Given the description of an element on the screen output the (x, y) to click on. 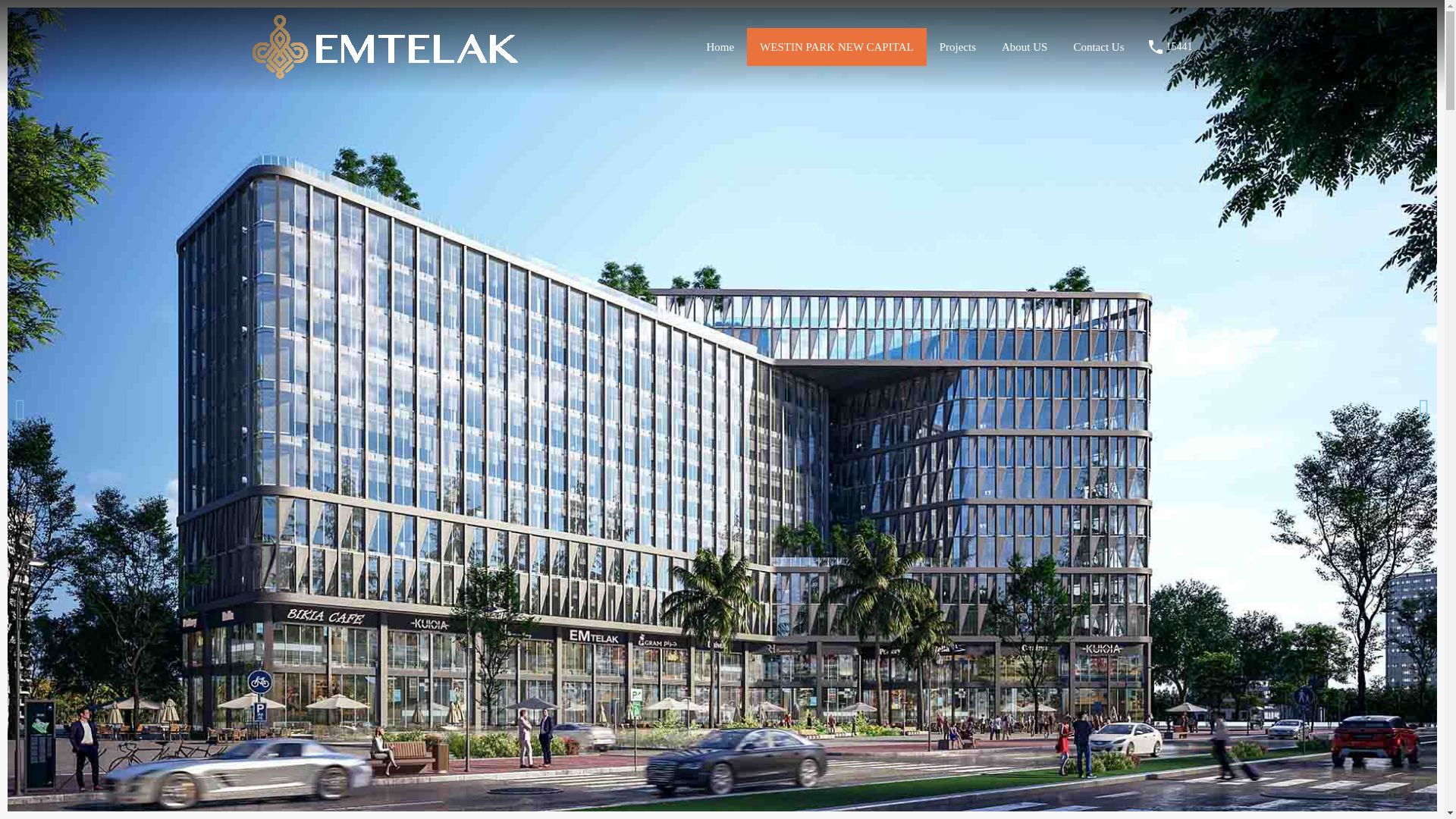
Home (719, 46)
WESTIN PARK NEW CAPITAL (836, 46)
EMTELAK (383, 71)
15441 (1179, 47)
Contact Us (1098, 46)
About US (1023, 46)
Projects (957, 46)
